Given the description of an element on the screen output the (x, y) to click on. 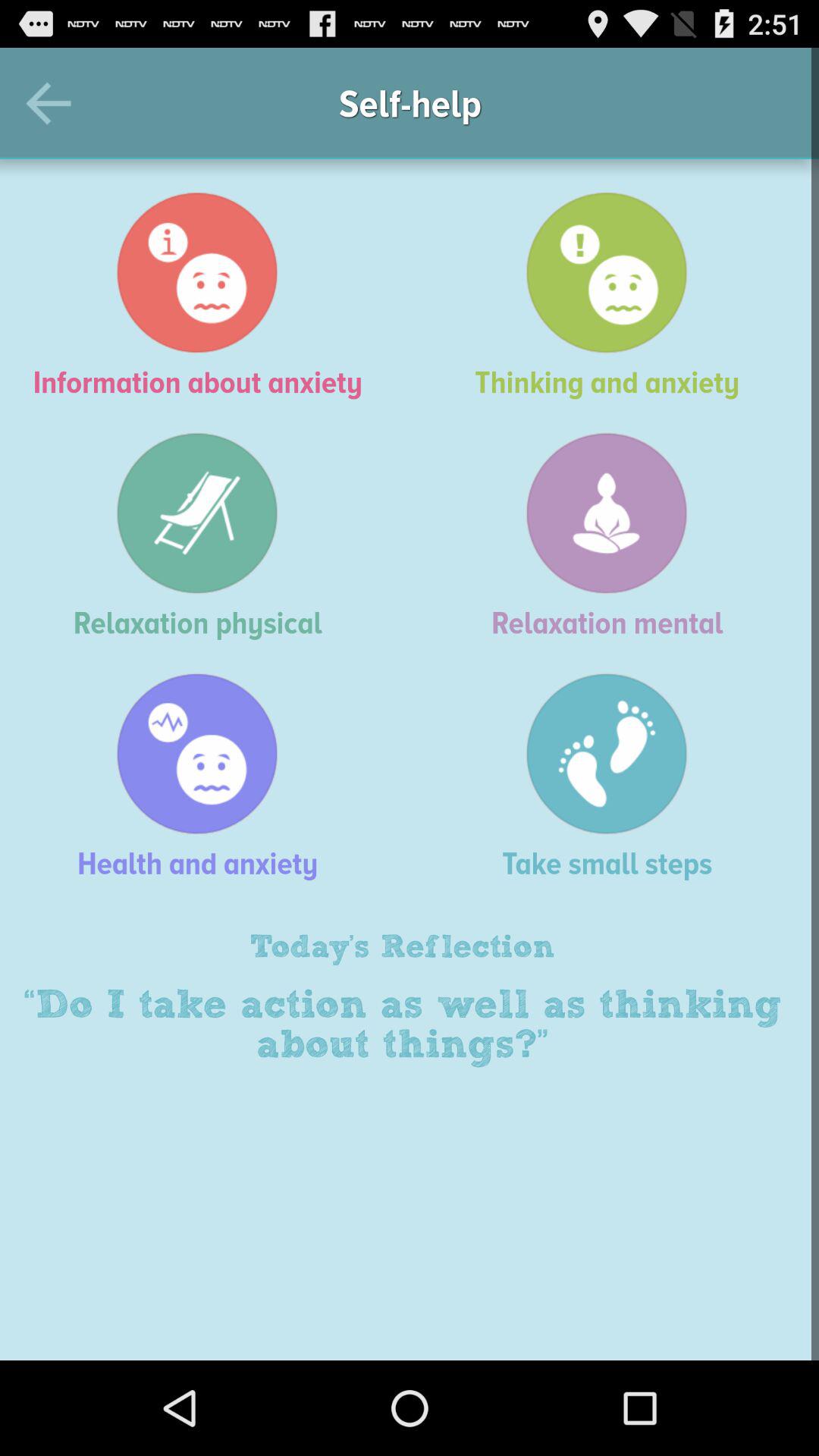
turn on the item above the health and anxiety (204, 535)
